Given the description of an element on the screen output the (x, y) to click on. 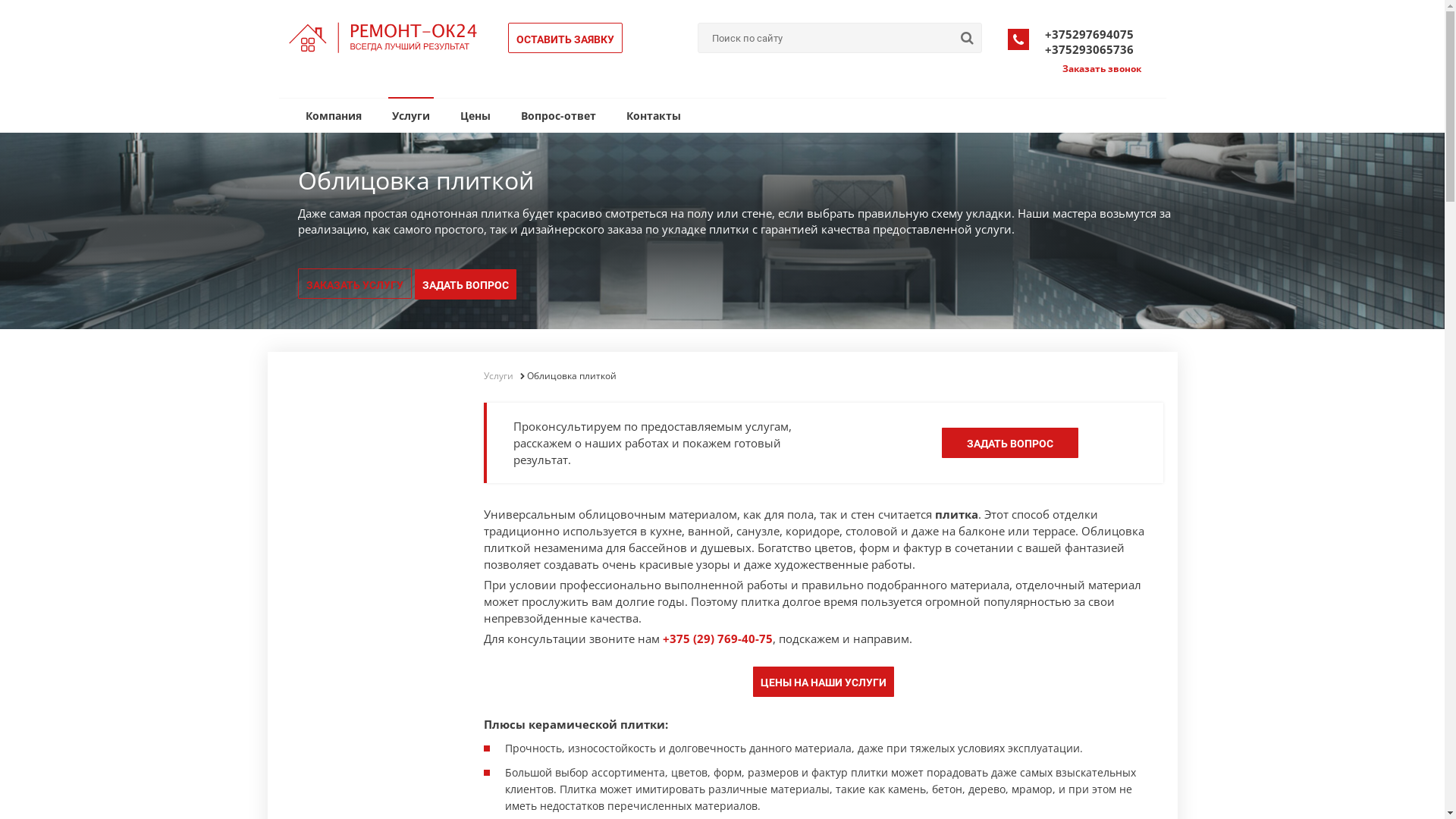
remont-ok24.by Element type: hover (383, 37)
+375293065736 Element type: text (1088, 48)
+375297694075 Element type: text (1088, 33)
+375 (29) 769-40-75 Element type: text (717, 638)
